Given the description of an element on the screen output the (x, y) to click on. 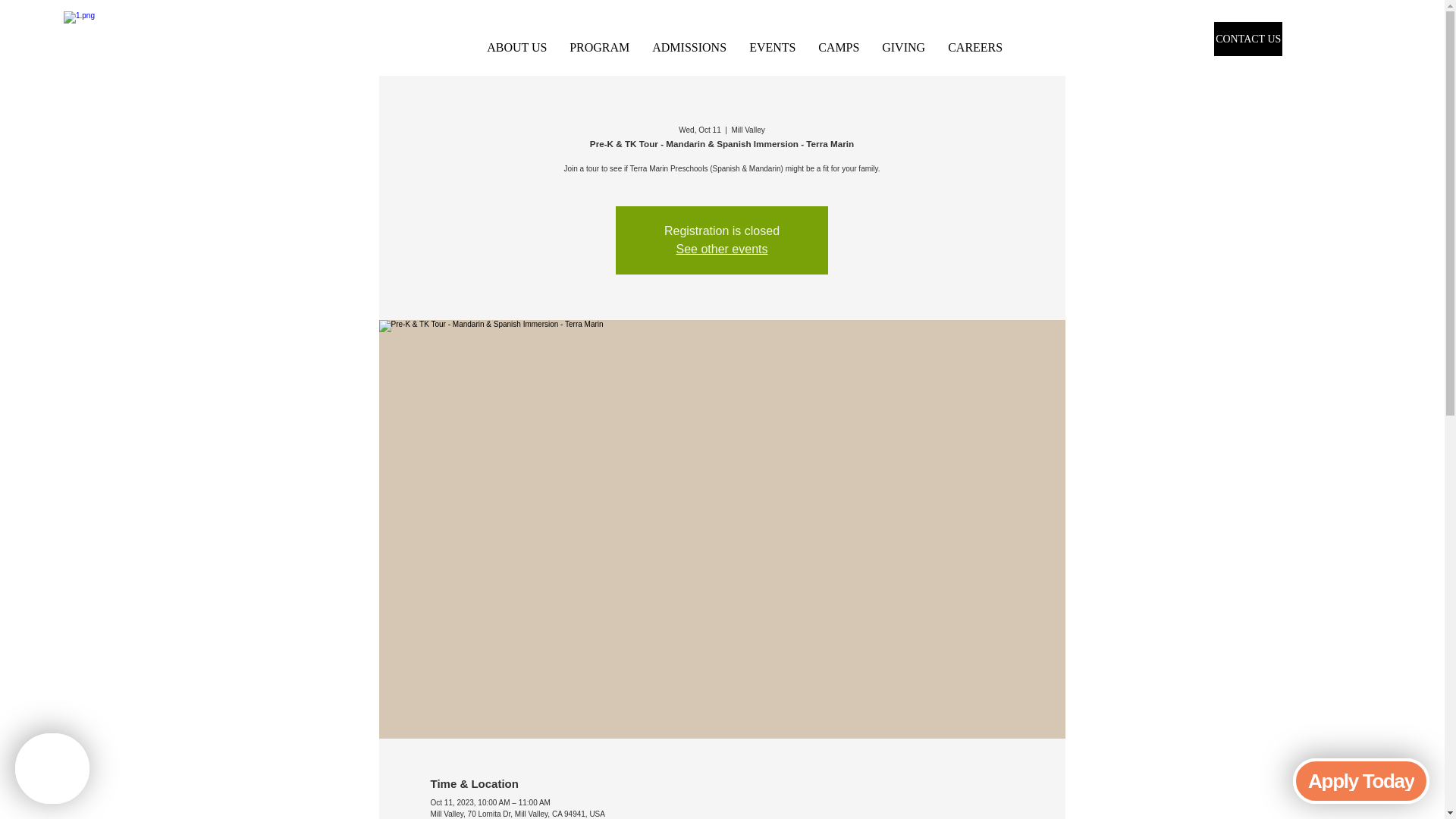
CAREERS (974, 47)
GIVING (903, 47)
See other events (722, 248)
CONTACT US (1248, 39)
